Given the description of an element on the screen output the (x, y) to click on. 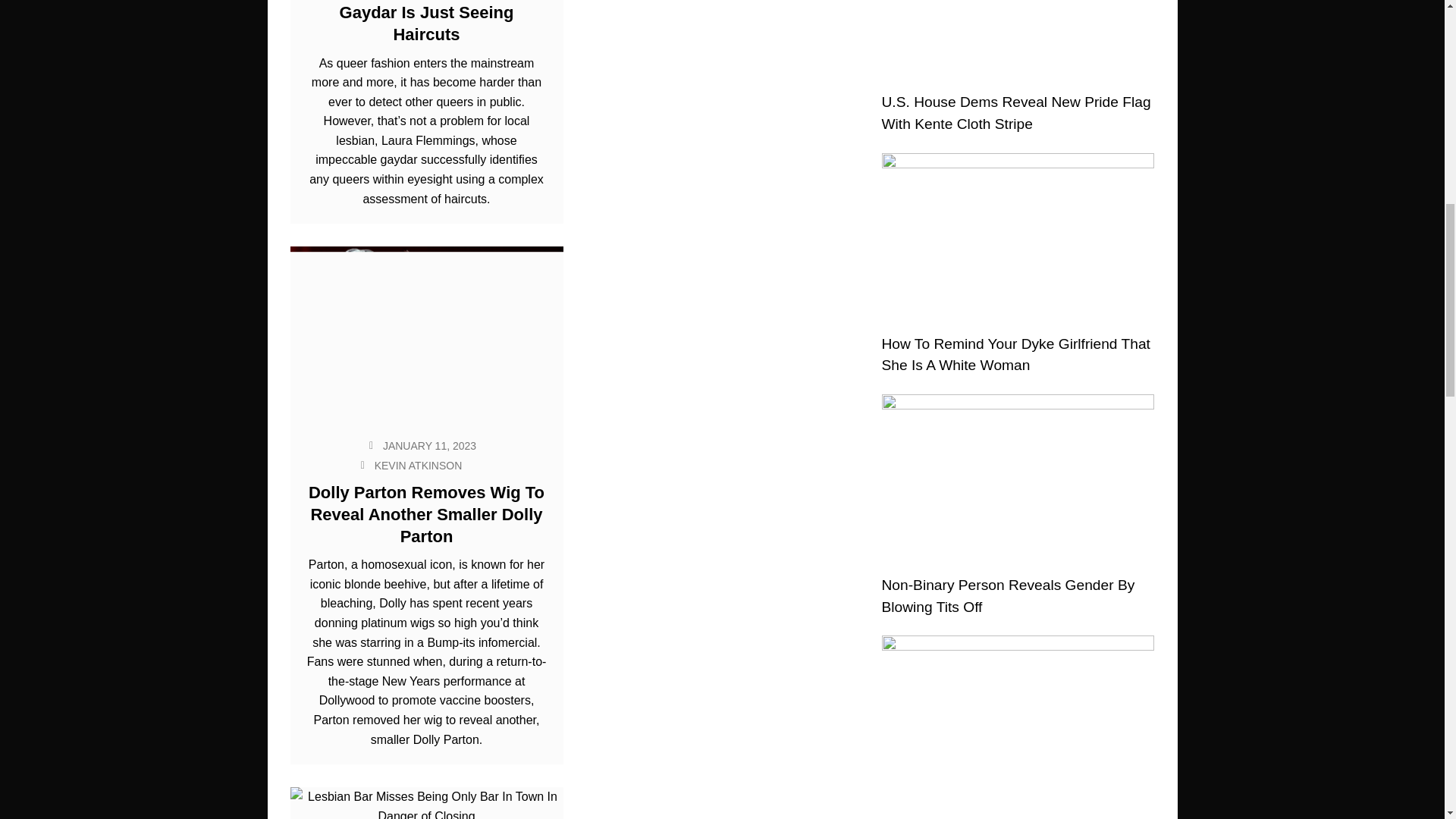
KEVIN ATKINSON (418, 465)
JANUARY 11, 2023 (429, 445)
